Given the description of an element on the screen output the (x, y) to click on. 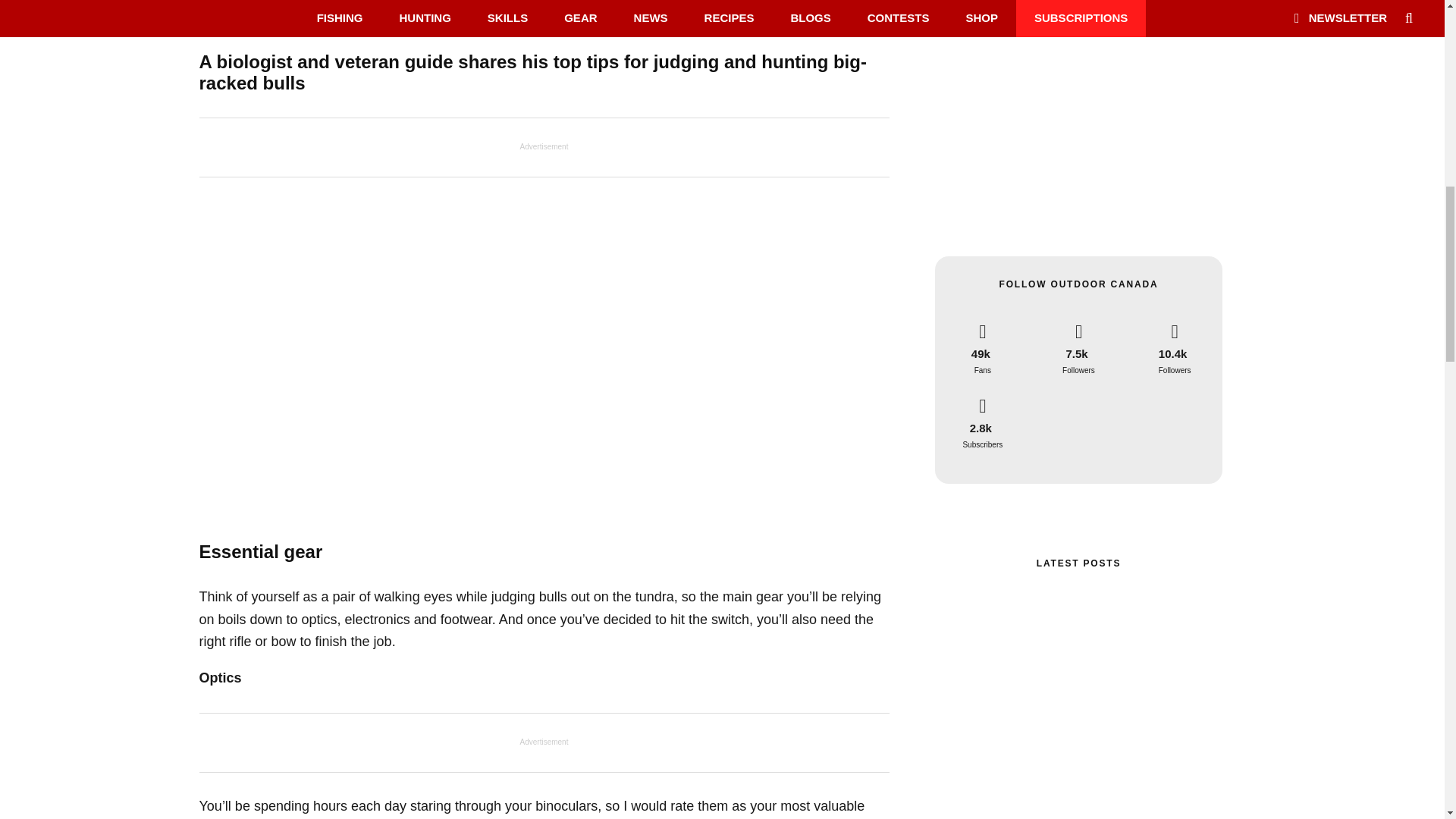
3rd party ad content (1077, 132)
